Given the description of an element on the screen output the (x, y) to click on. 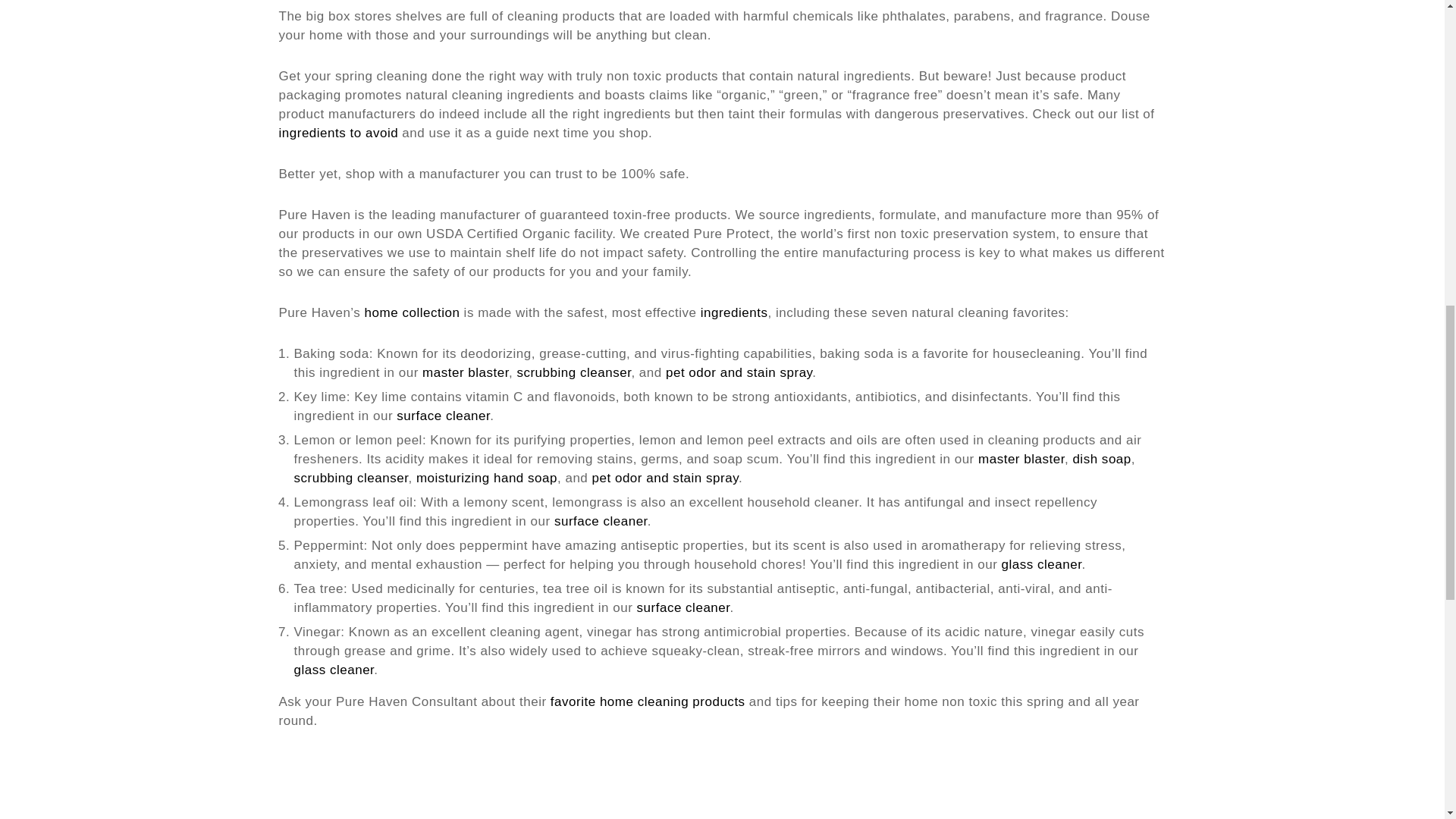
ingredients (734, 312)
glass cleaner (1041, 564)
surface (579, 521)
master blaster (465, 372)
scrubbing (547, 372)
scrubbing cleanser (351, 477)
moisturizing hand soap (486, 477)
pet odor and stain spray (665, 477)
home collection (412, 312)
dish soap (1101, 459)
pet odor and stain spray (738, 372)
master blaster (1021, 459)
ingredients to avoid (338, 133)
cleanser (604, 372)
surface cleaner (442, 415)
